Given the description of an element on the screen output the (x, y) to click on. 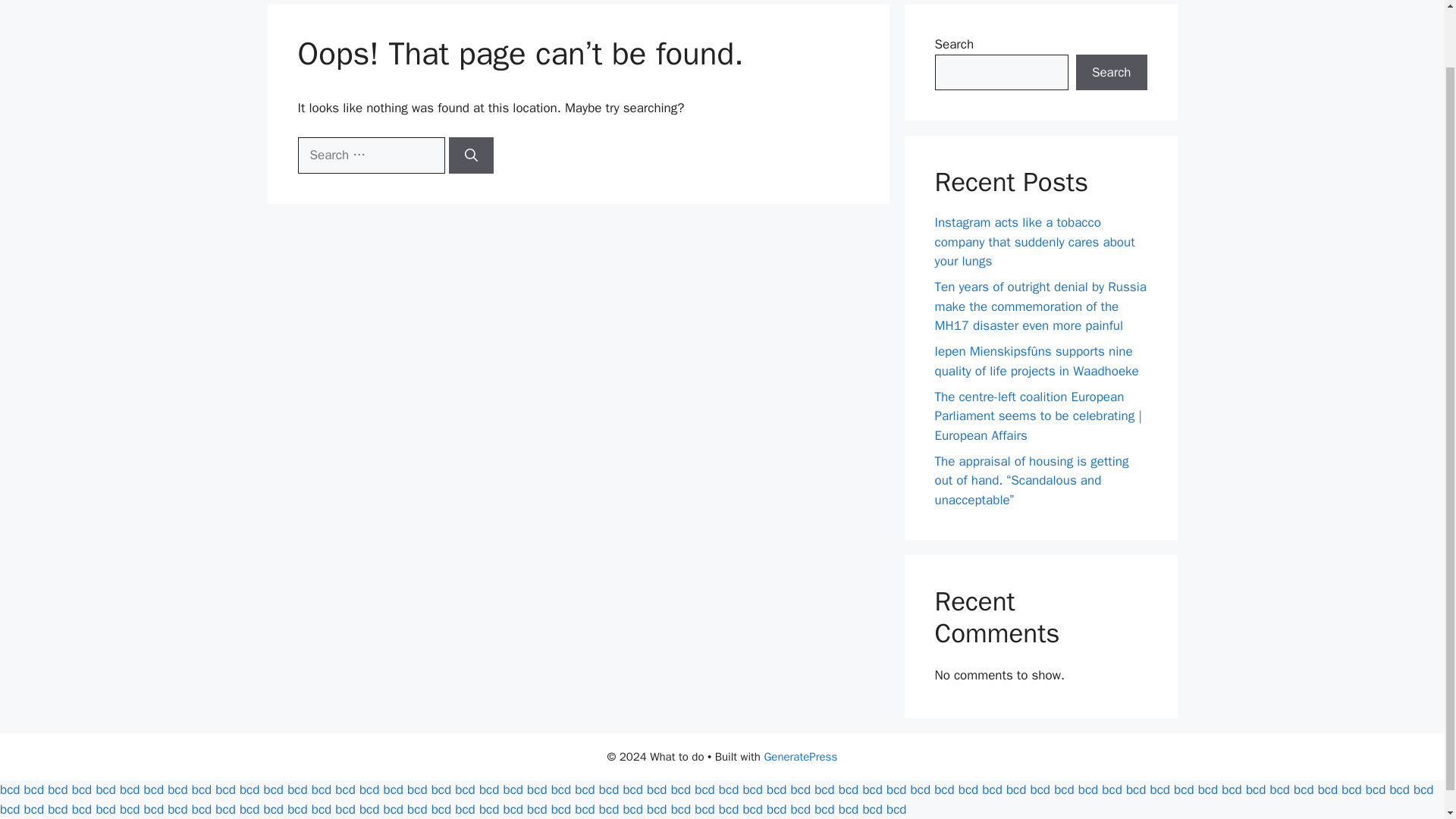
bcd (177, 789)
bcd (321, 789)
bcd (416, 789)
GeneratePress (799, 756)
Search (1111, 72)
bcd (560, 789)
bcd (537, 789)
bcd (249, 789)
bcd (489, 789)
bcd (81, 789)
bcd (10, 789)
bcd (368, 789)
bcd (153, 789)
